Given the description of an element on the screen output the (x, y) to click on. 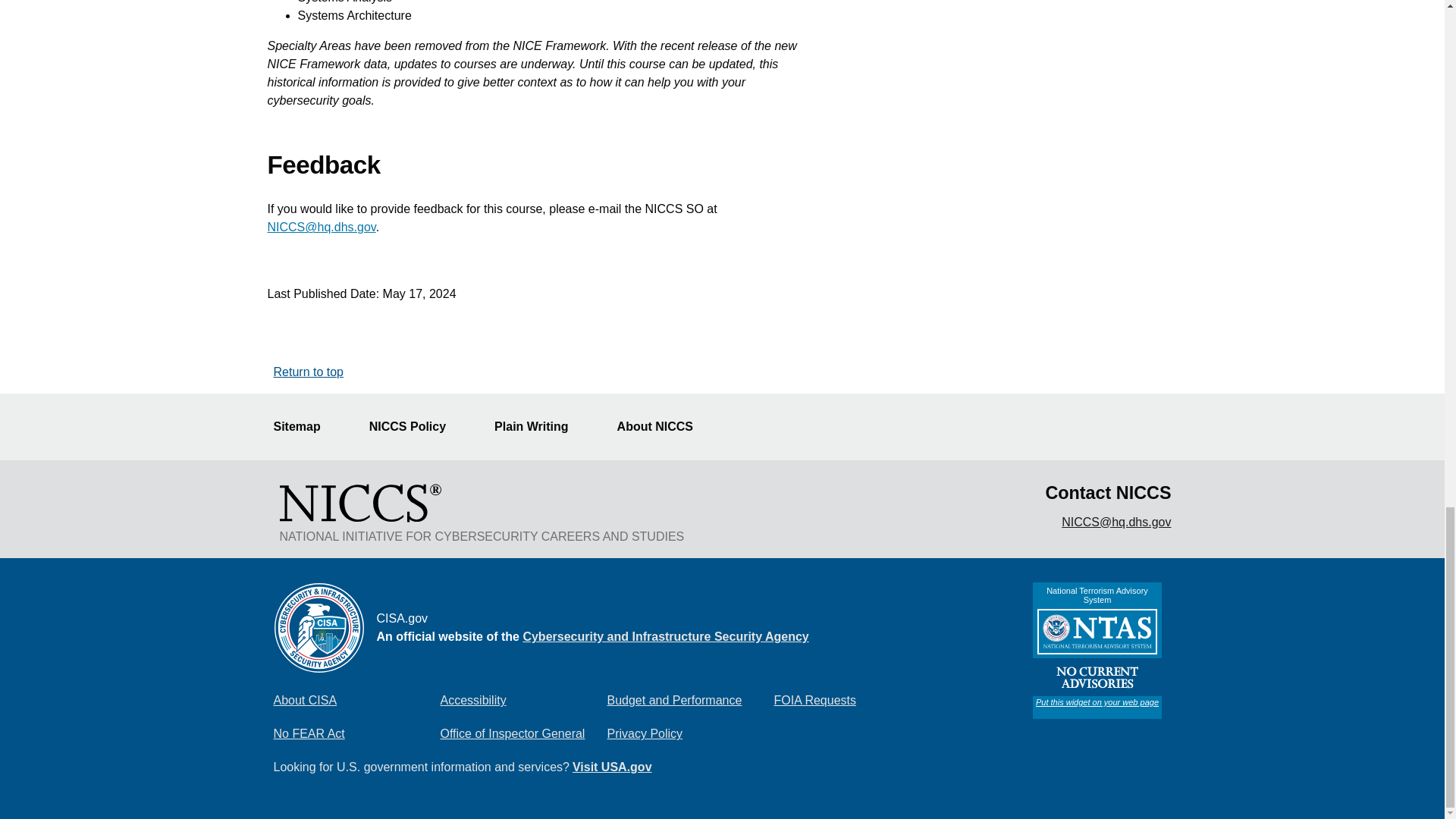
Budget and Performance (690, 700)
Sitemap (305, 426)
About CISA (356, 700)
Sitemap (305, 426)
About NICCS (664, 426)
Privacy Policy (690, 734)
Return to top (308, 371)
NICCS Policy (416, 426)
Visit the USA.gov website (612, 767)
Accessibility (523, 700)
